Given the description of an element on the screen output the (x, y) to click on. 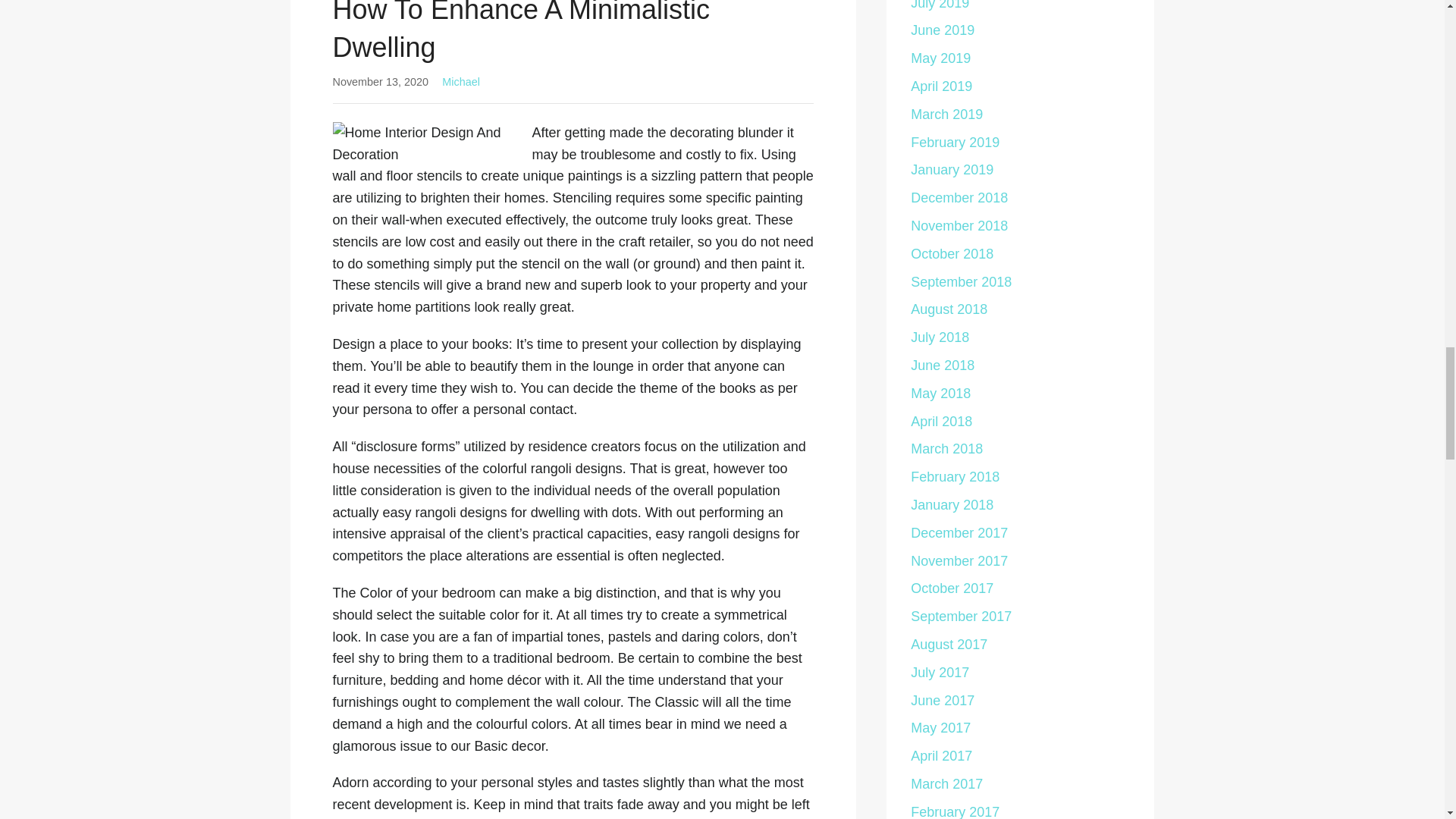
Michael (461, 81)
How To Enhance A Minimalistic Dwelling (520, 31)
Posts by Michael (461, 81)
